Given the description of an element on the screen output the (x, y) to click on. 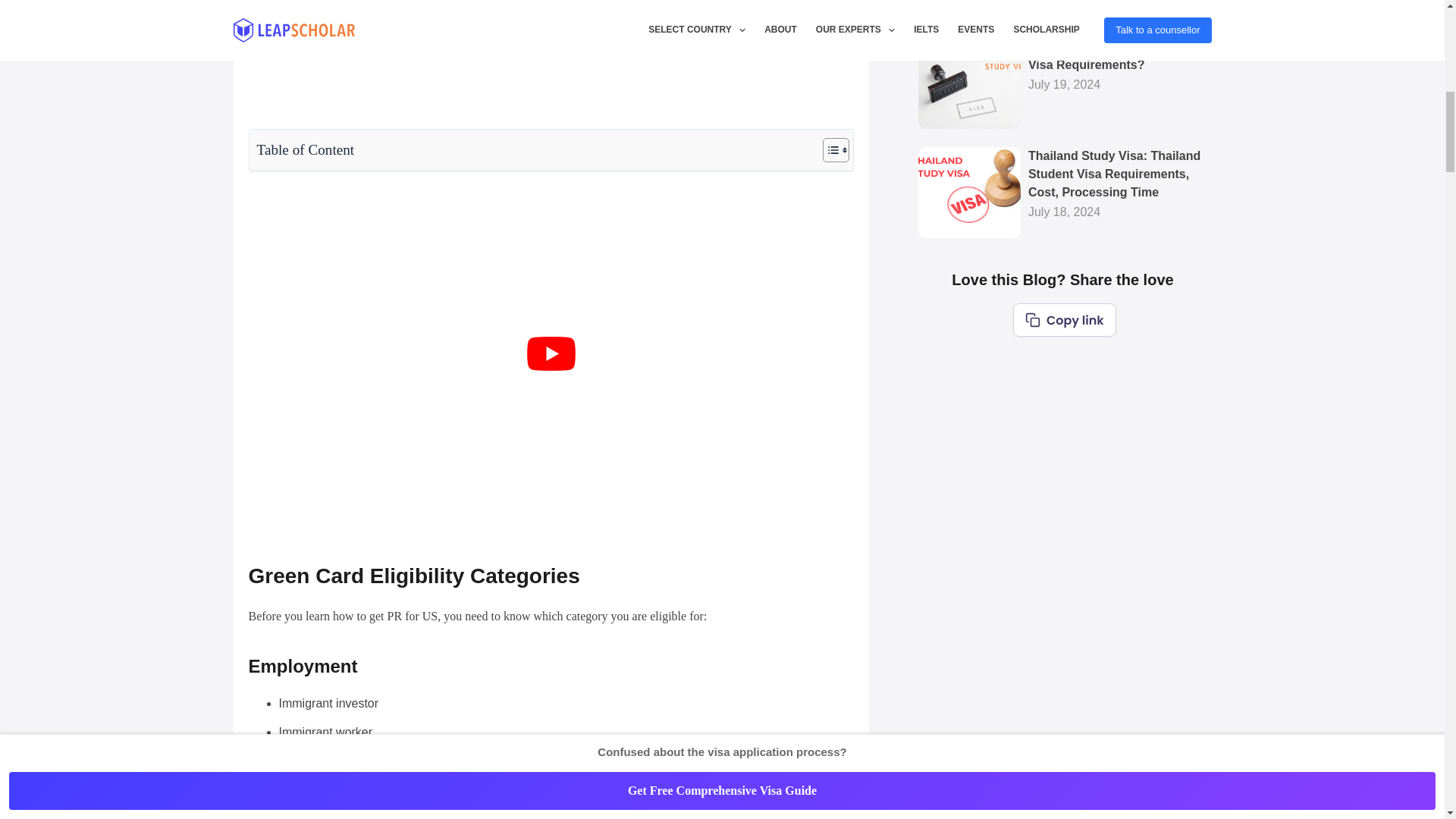
Scroll here (296, 9)
Scroll here (825, 9)
Scroll here (560, 9)
